Given the description of an element on the screen output the (x, y) to click on. 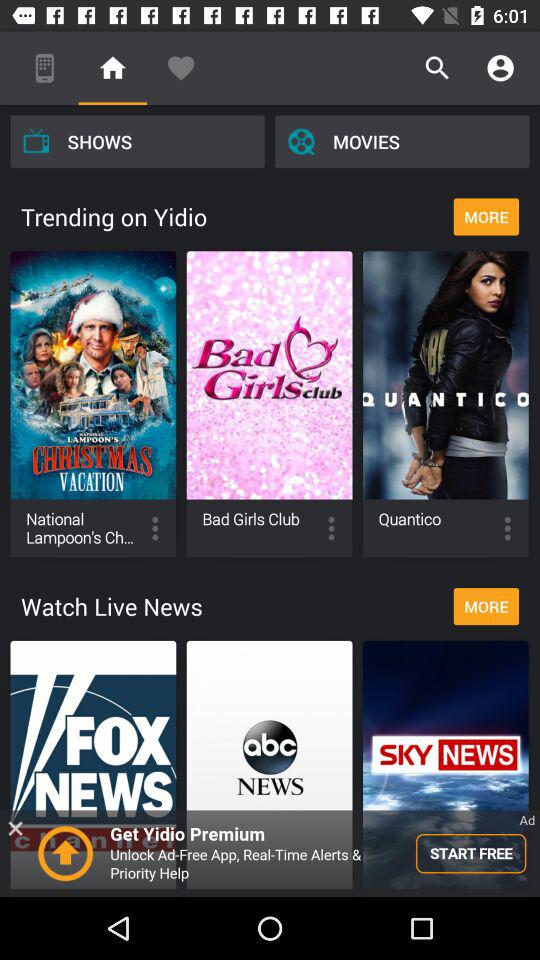
turn off item above shows item (112, 68)
